Given the description of an element on the screen output the (x, y) to click on. 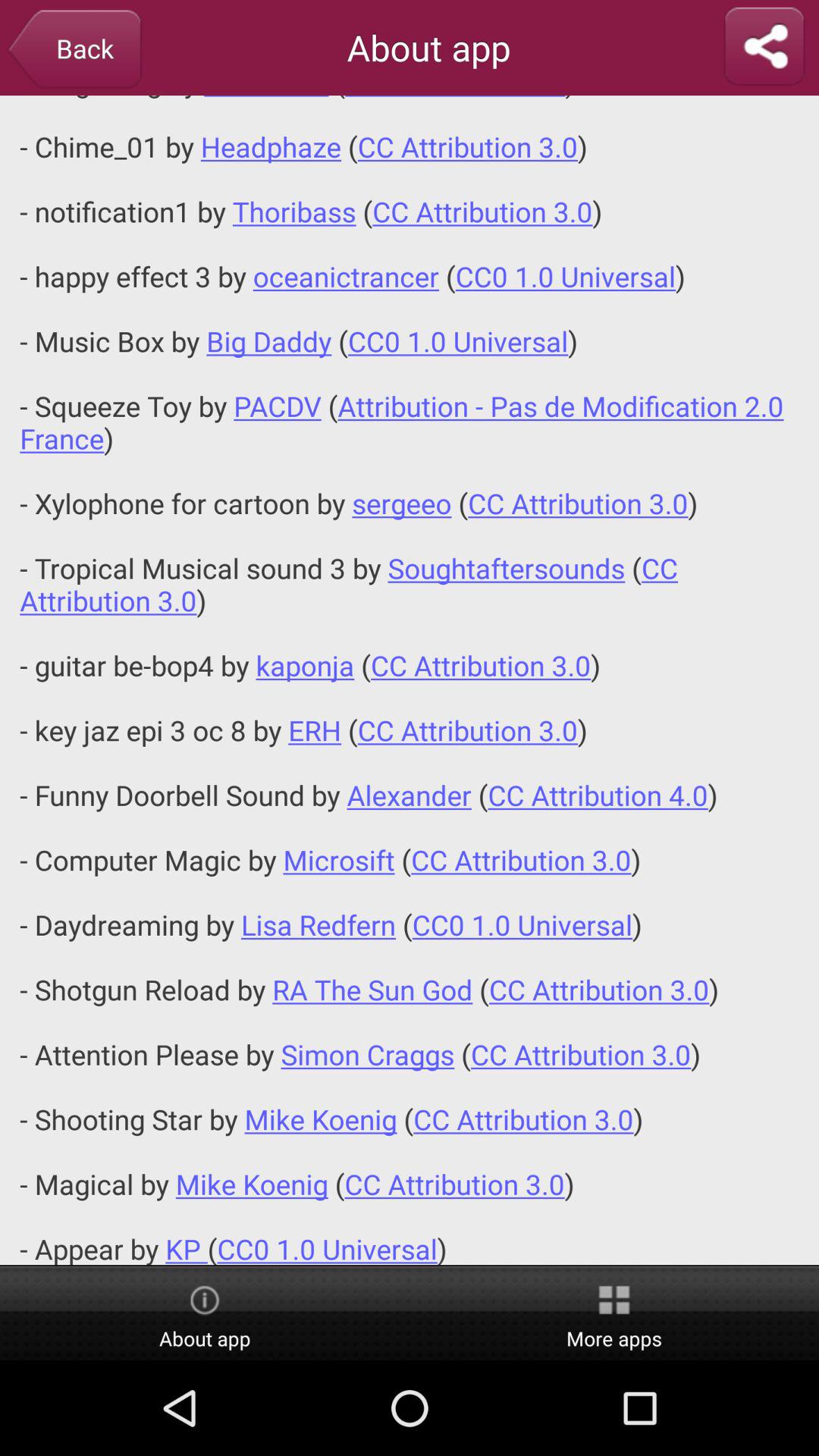
tap item above the desk bell sound app (764, 47)
